Given the description of an element on the screen output the (x, y) to click on. 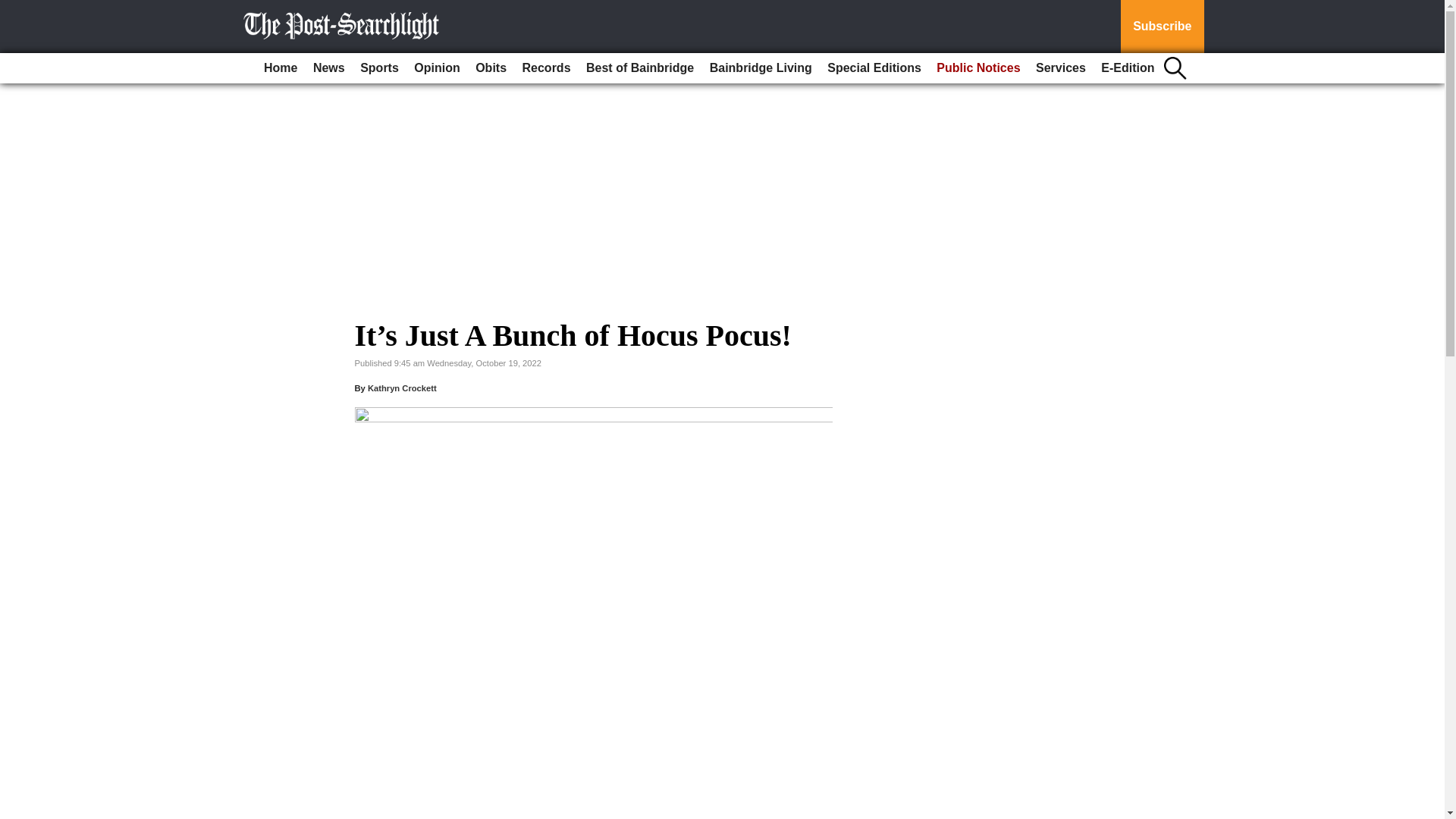
Services (1060, 68)
Bainbridge Living (760, 68)
Public Notices (978, 68)
E-Edition (1127, 68)
News (328, 68)
Obits (490, 68)
Go (13, 9)
Subscribe (1162, 26)
Kathryn Crockett (402, 388)
Sports (378, 68)
